Given the description of an element on the screen output the (x, y) to click on. 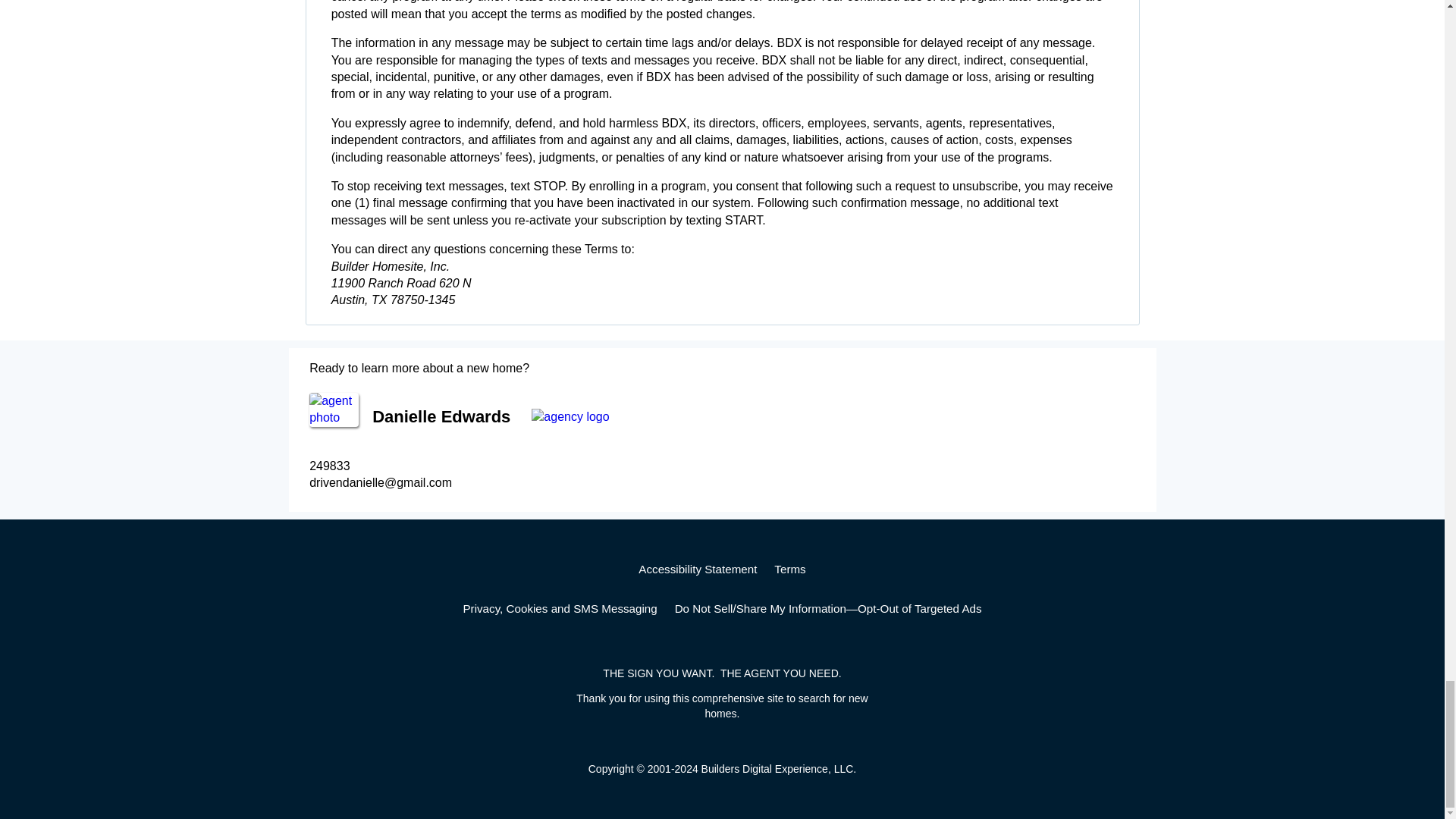
Privacy, Cookies and SMS Messaging (559, 608)
Terms (789, 568)
Accessibility Statement (698, 568)
